Given the description of an element on the screen output the (x, y) to click on. 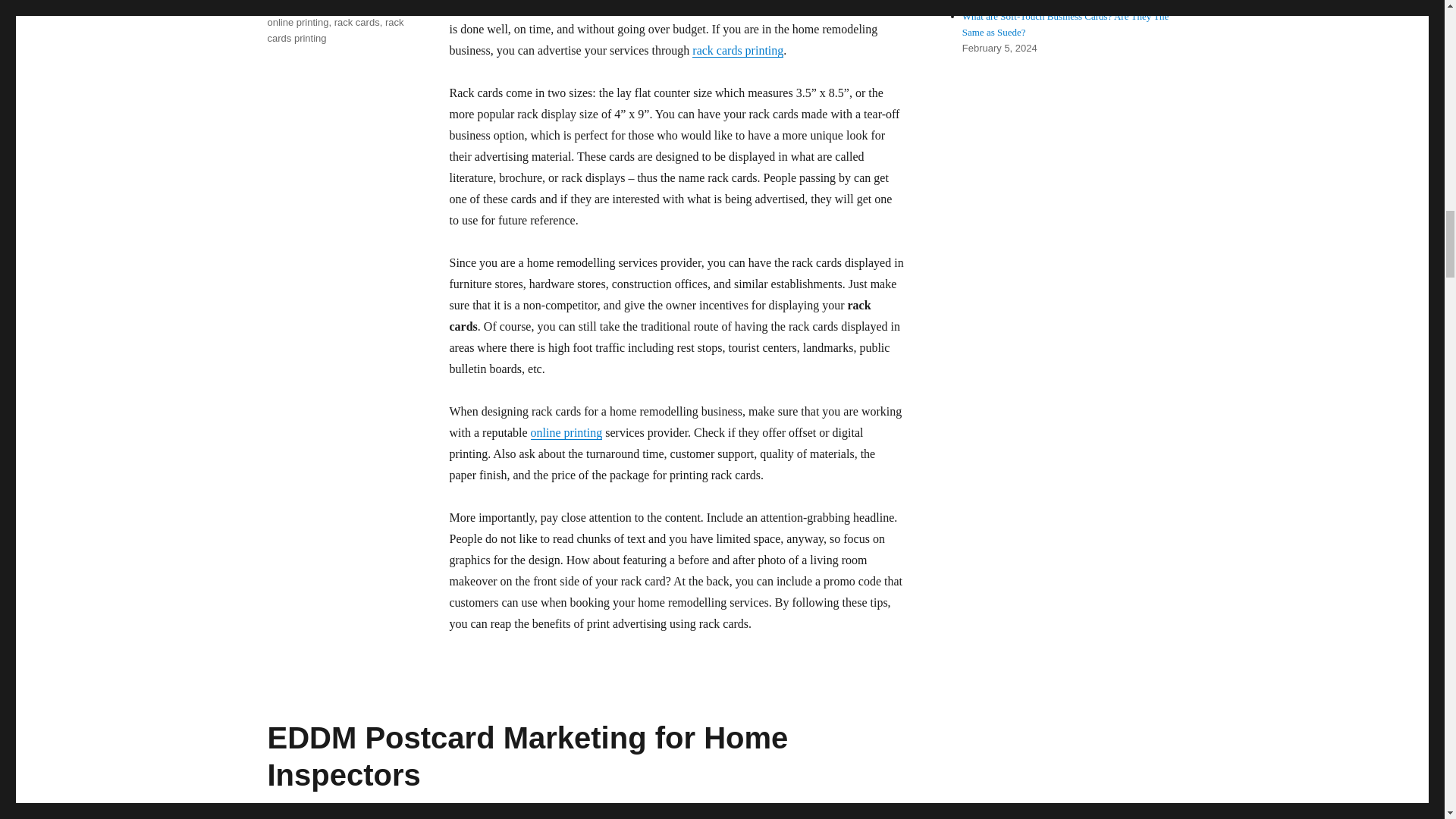
rack cards printing (334, 30)
rack cards (357, 21)
rack cards printing (738, 50)
online printing (297, 21)
online printing (566, 431)
EDDM Postcard Marketing for Home Inspectors (526, 756)
